Given the description of an element on the screen output the (x, y) to click on. 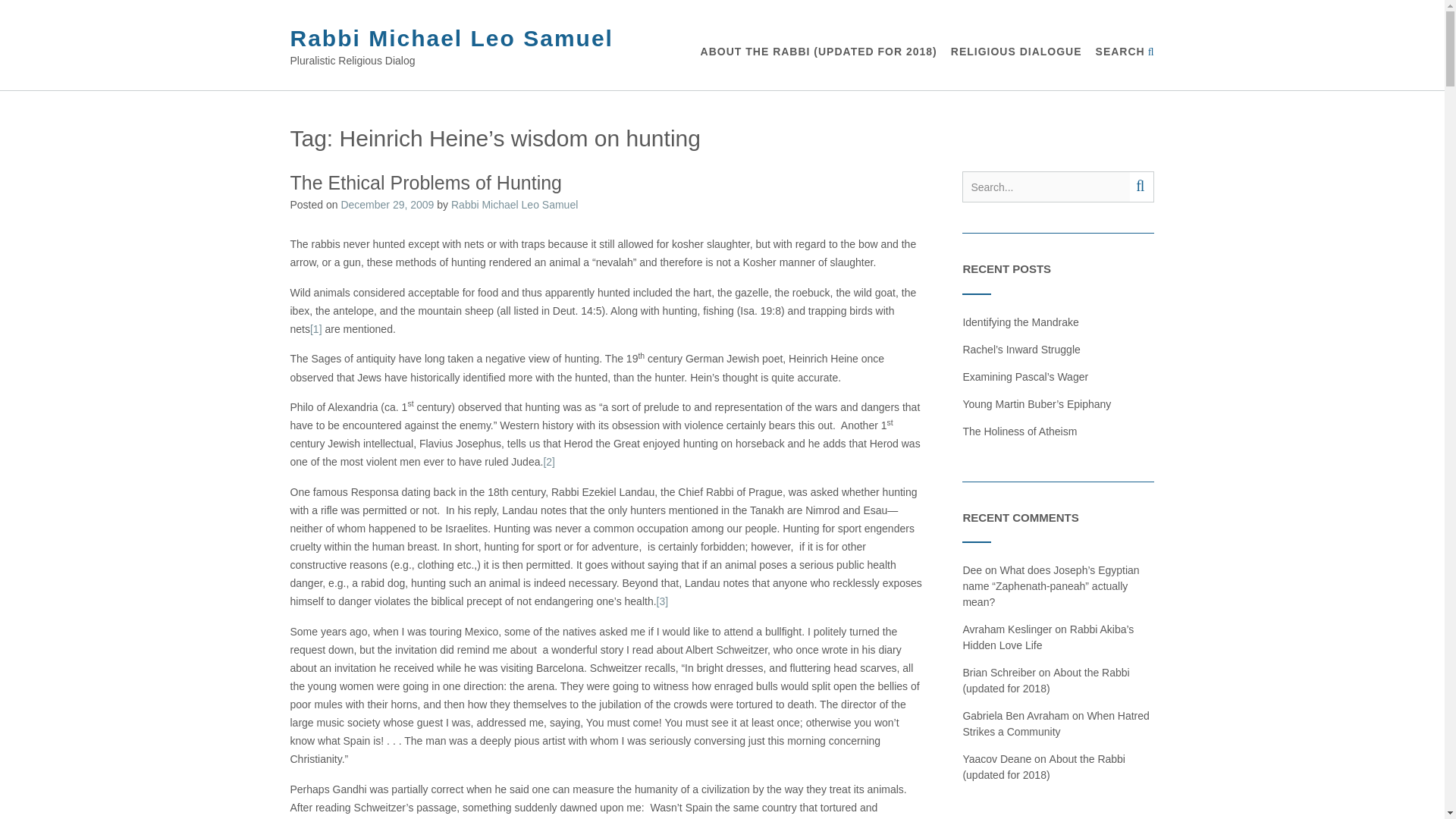
The Ethical Problems of Hunting (425, 182)
December 29, 2009 (386, 204)
RELIGIOUS DIALOGUE (1015, 51)
Rabbi Michael Leo Samuel (450, 38)
SEARCH (1125, 51)
The Holiness of Atheism (1019, 430)
Rabbi Michael Leo Samuel (450, 38)
Search for: (1045, 186)
Rabbi Michael Leo Samuel (514, 204)
Identifying the Mandrake (1020, 321)
Dee (971, 570)
